Given the description of an element on the screen output the (x, y) to click on. 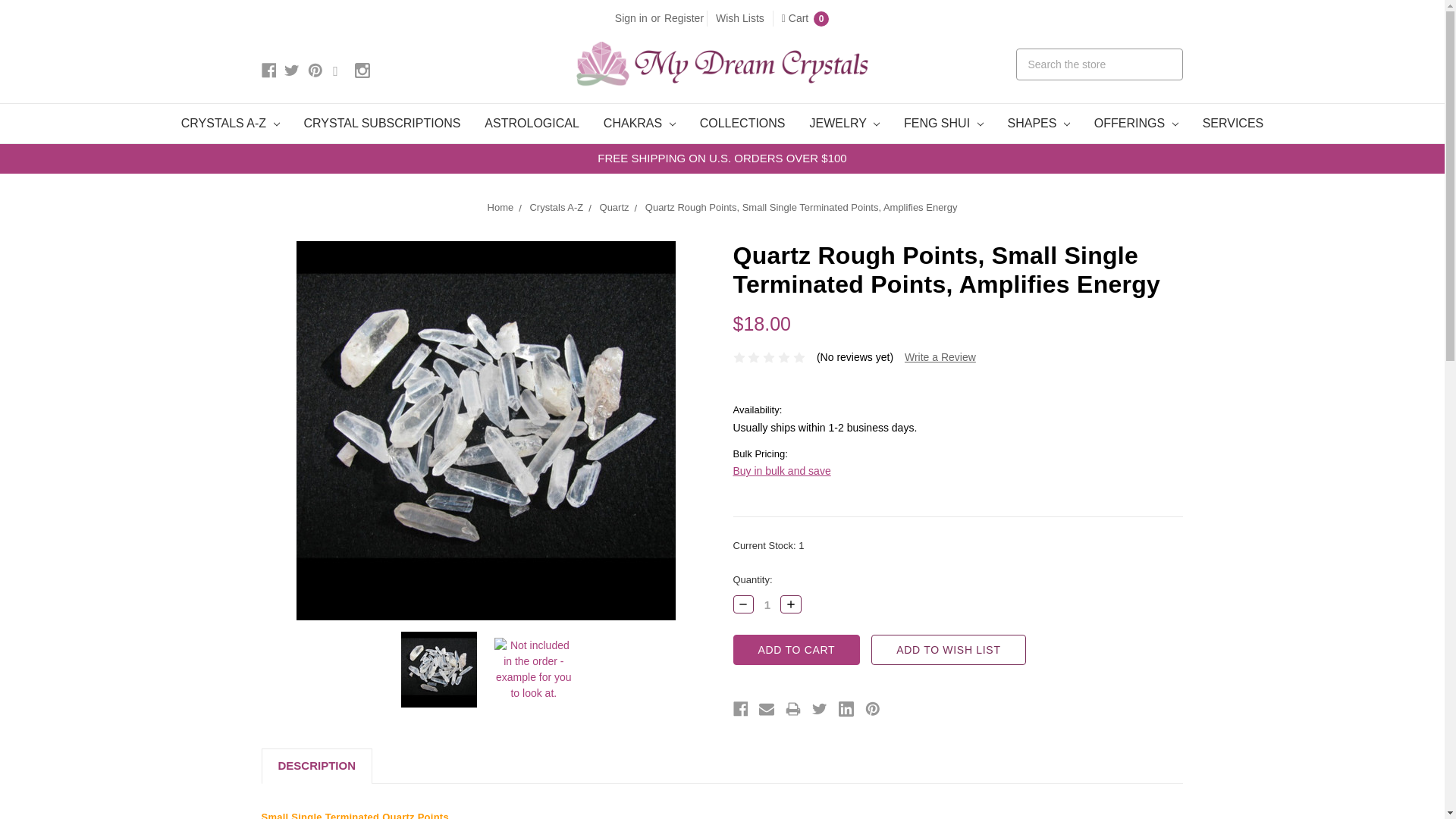
My Dream Crystals (721, 63)
Cart 0 (805, 18)
Register (683, 18)
Wish Lists (740, 18)
Add to Cart (796, 649)
Sign in (631, 18)
Quartz Points, Small (439, 669)
1 (767, 604)
CRYSTALS A-Z (230, 123)
